Given the description of an element on the screen output the (x, y) to click on. 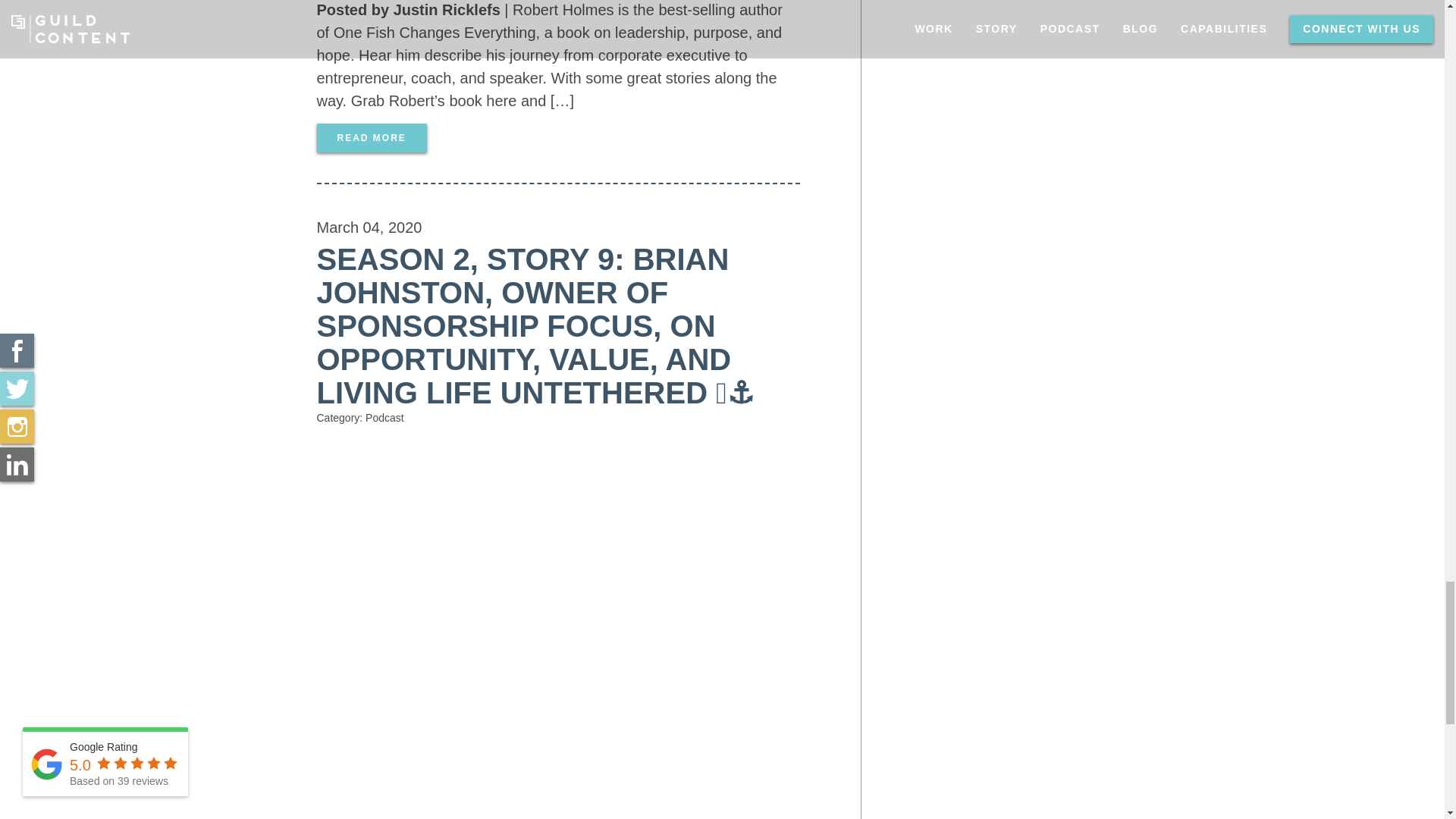
READ MORE (371, 137)
Podcast (384, 417)
Justin Ricklefs (446, 9)
Posts by Justin Ricklefs (446, 9)
